Given the description of an element on the screen output the (x, y) to click on. 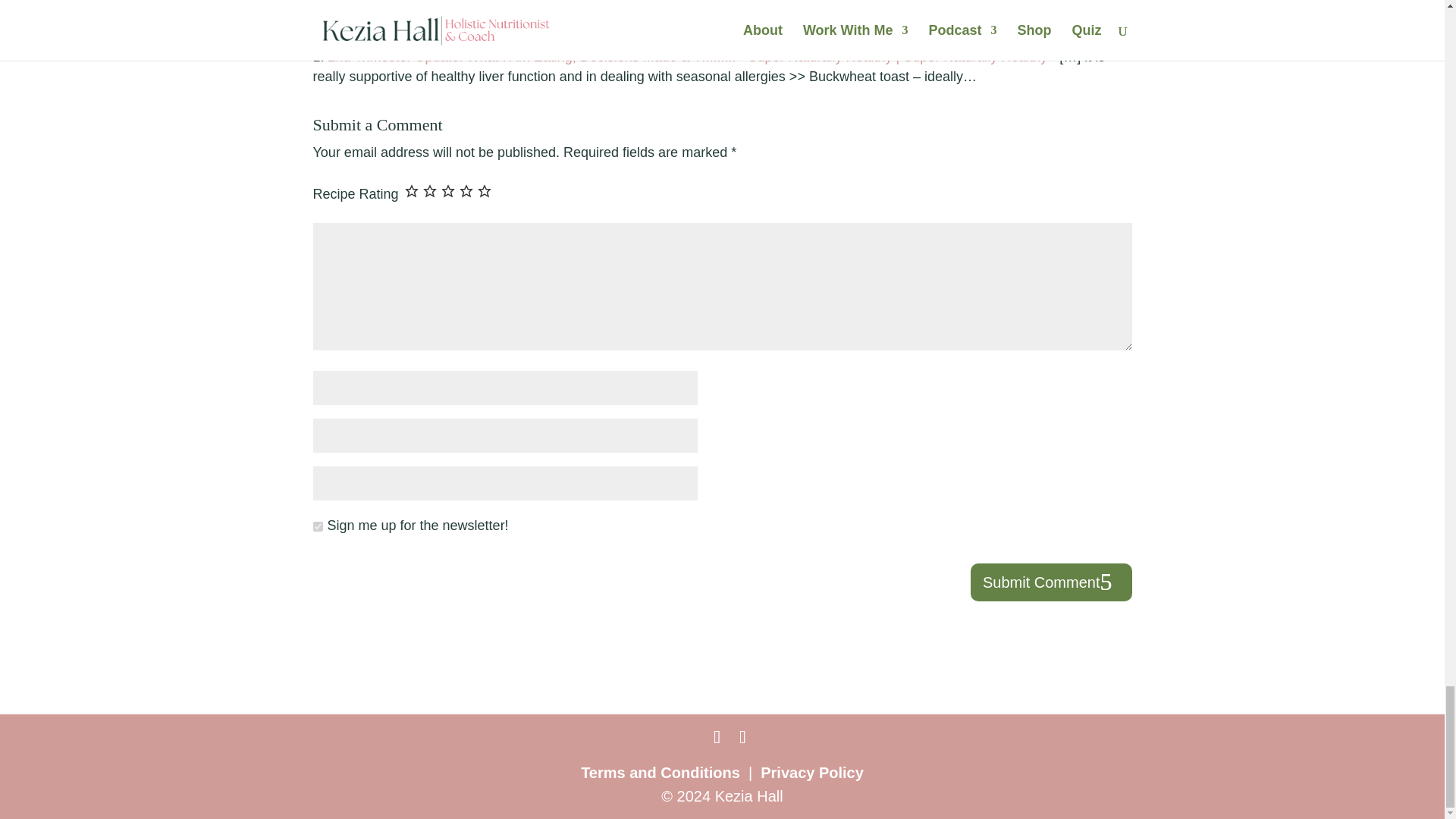
1 (317, 526)
